Given the description of an element on the screen output the (x, y) to click on. 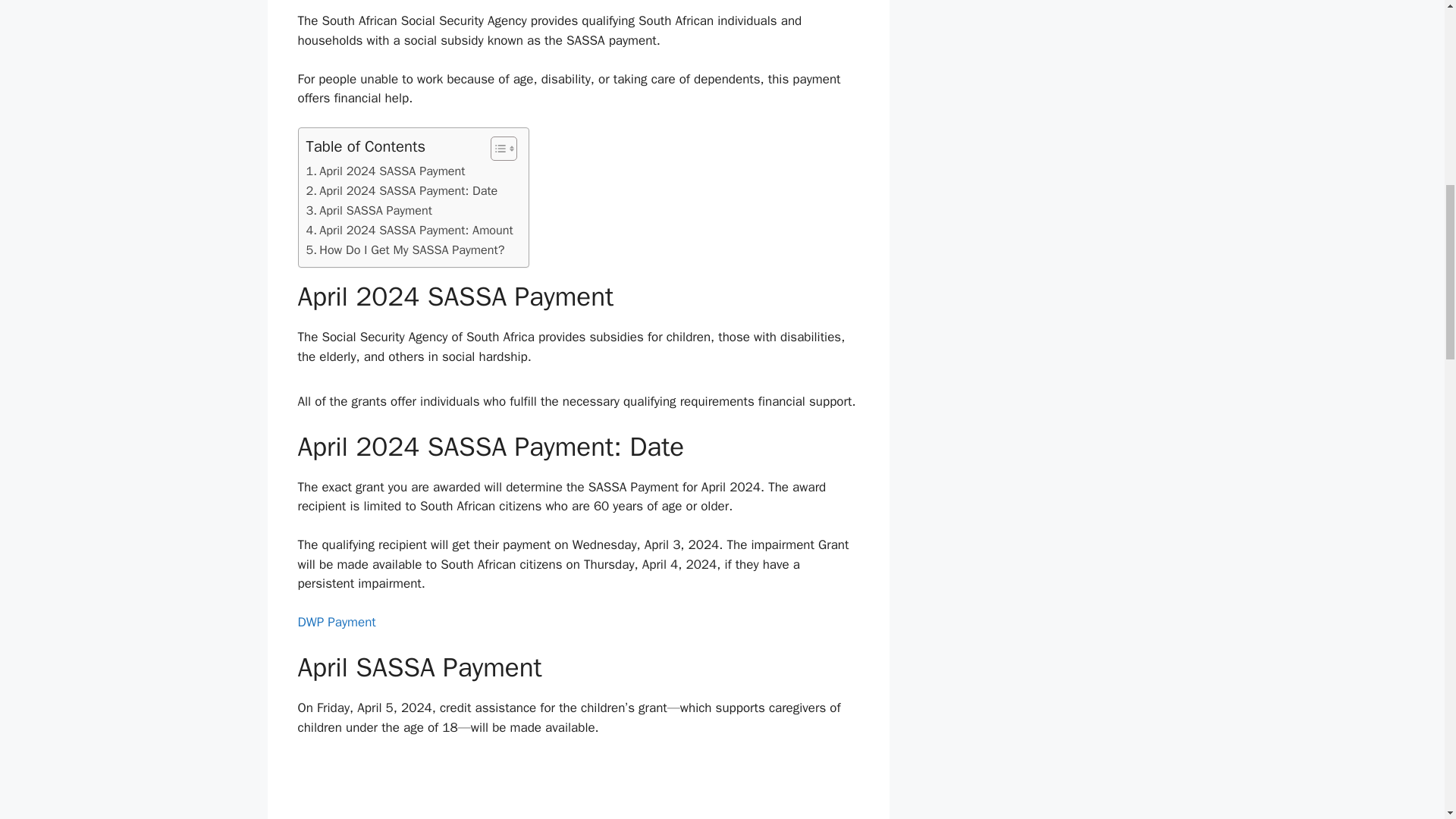
DWP Payment (336, 621)
April SASSA Payment (368, 210)
April 2024 SASSA Payment (385, 170)
April 2024 SASSA Payment: Date (401, 190)
April 2024 SASSA Payment: Amount (409, 230)
How Do I Get My SASSA Payment? (405, 250)
April SASSA Payment (368, 210)
April 2024 SASSA Payment (385, 170)
How Do I Get My SASSA Payment? (405, 250)
April 2024 SASSA Payment: Date (401, 190)
April 2024 SASSA Payment: Amount (409, 230)
